Given the description of an element on the screen output the (x, y) to click on. 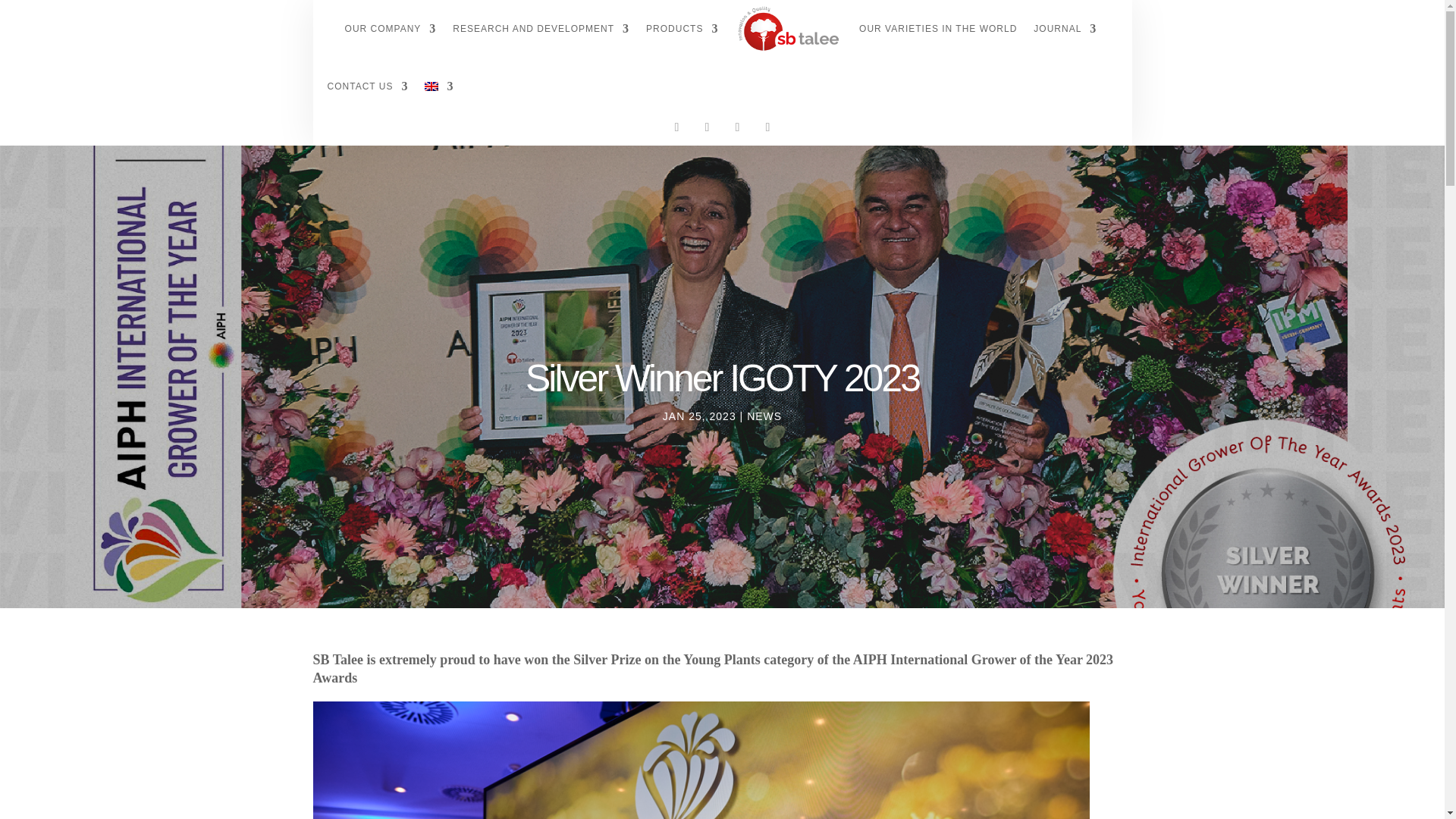
JOURNAL (1064, 28)
RESEARCH AND DEVELOPMENT (540, 28)
Follow on Instagram (706, 127)
Follow on Youtube (766, 127)
Follow on LinkedIn (737, 127)
OUR COMPANY (390, 28)
Follow on Facebook (675, 127)
PRODUCTS (681, 28)
CONTACT US (368, 86)
OUR VARIETIES IN THE WORLD (937, 28)
